Given the description of an element on the screen output the (x, y) to click on. 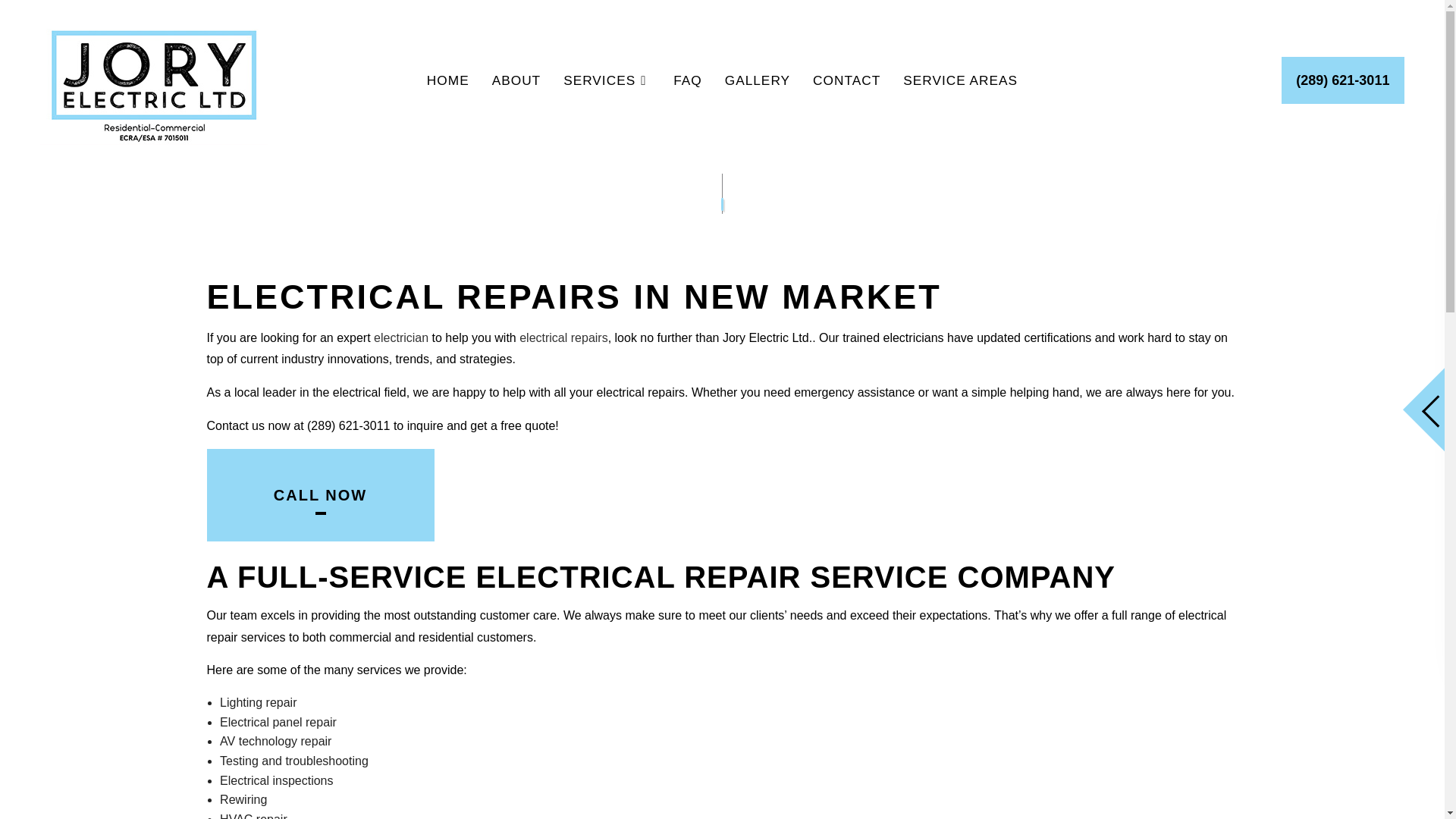
HOME AUTOMATION (487, 267)
ELECTRICAL REPAIRS (692, 188)
Electrician (401, 337)
EMERGENCY ELECTRICIAN (487, 241)
ELECTRICIAN (692, 214)
ABOUT (515, 80)
ELECTRICAL WIRING (487, 214)
ELECTRICAL PANEL UPGRADES (487, 188)
Jory Electric Ltd. (153, 77)
ELECTRICAL INSPECTION (692, 161)
COMMERCIAL ELECTRICIAN (692, 135)
CEILING FAN INSTALLATION (487, 135)
ELECTRICAL CONTRACTOR (487, 161)
EV CHARGER INSTALLATION (692, 241)
SERVICES (606, 80)
